Given the description of an element on the screen output the (x, y) to click on. 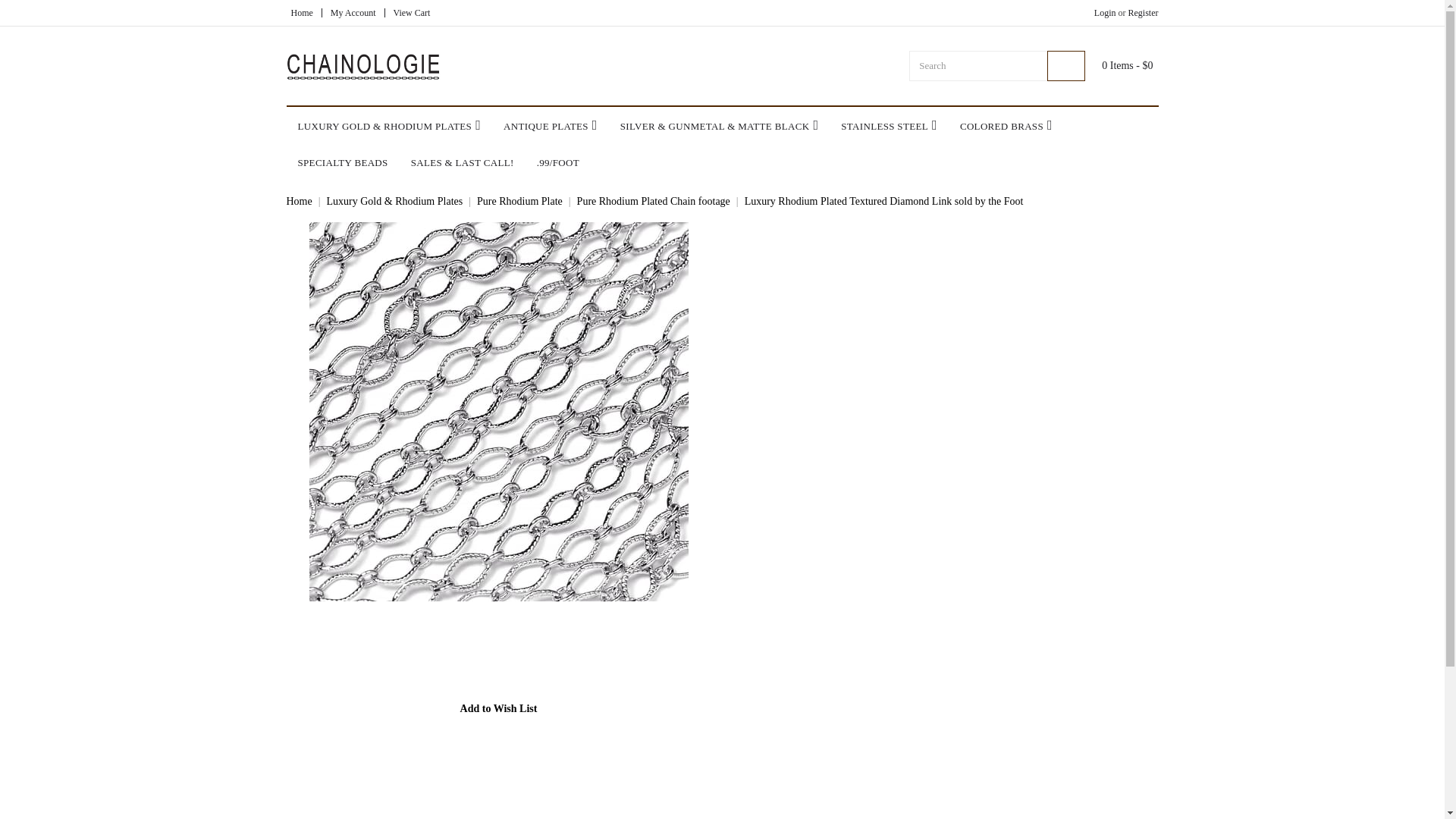
Login (1105, 12)
COLORED BRASS (1006, 125)
ANTIQUE PLATES (550, 125)
STAINLESS STEEL (889, 125)
Register (1141, 12)
My Account (353, 12)
Home (301, 12)
View Cart (410, 12)
